Given the description of an element on the screen output the (x, y) to click on. 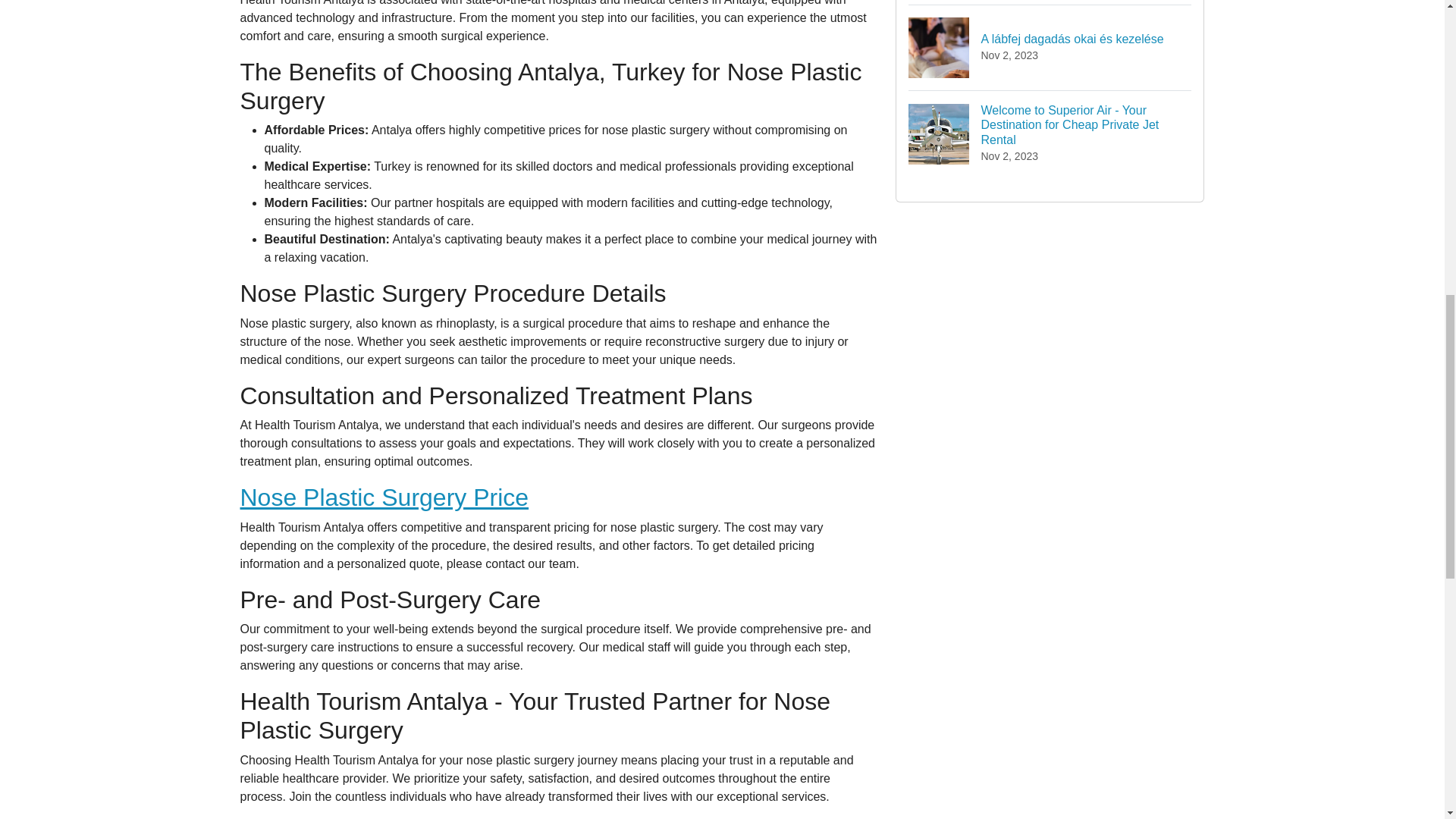
Nose Plastic Surgery Price (384, 497)
